Given the description of an element on the screen output the (x, y) to click on. 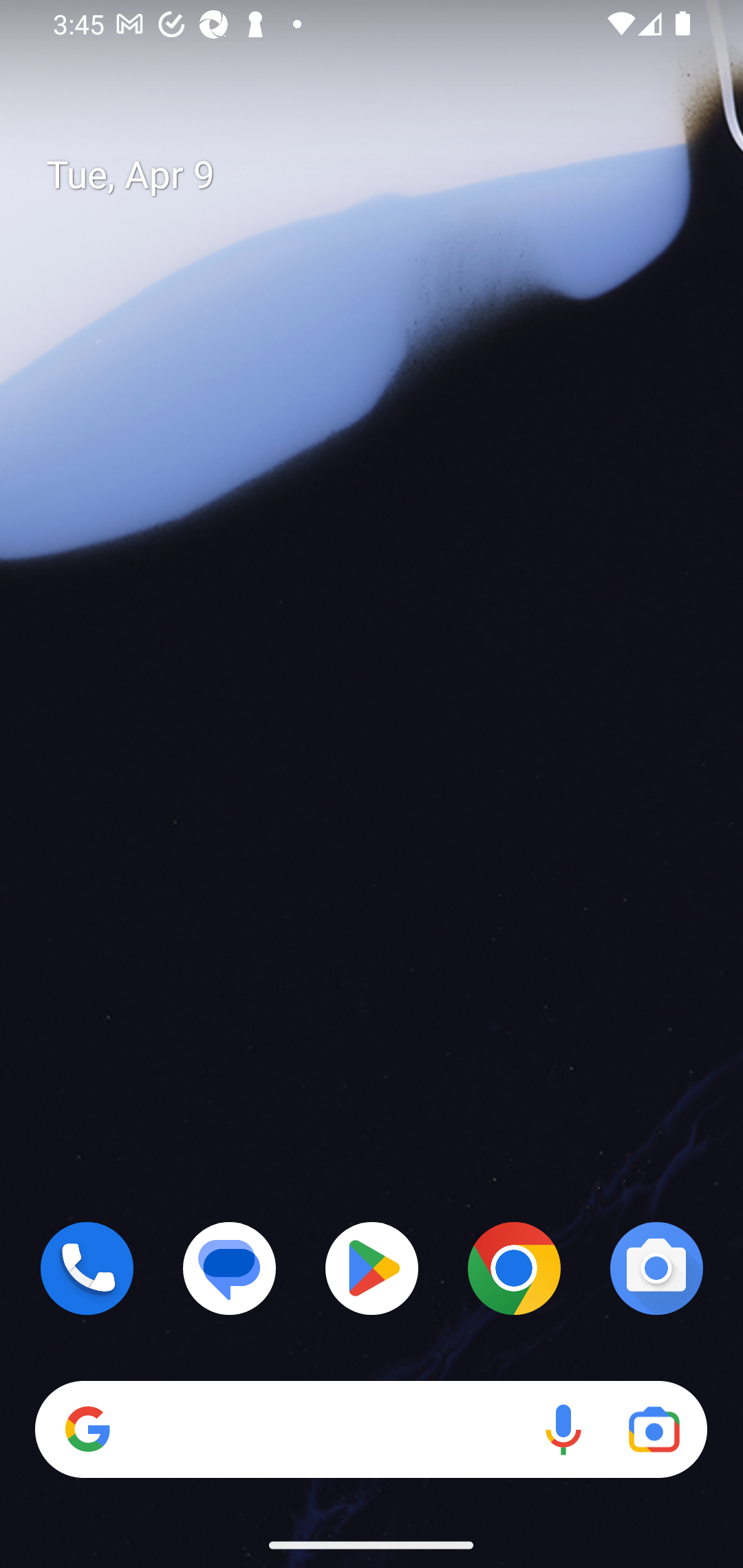
Tue, Apr 9 (386, 175)
Phone (86, 1268)
Messages (229, 1268)
Play Store (371, 1268)
Chrome (513, 1268)
Camera (656, 1268)
Search Voice search Google Lens (370, 1429)
Voice search (562, 1429)
Google Lens (653, 1429)
